Given the description of an element on the screen output the (x, y) to click on. 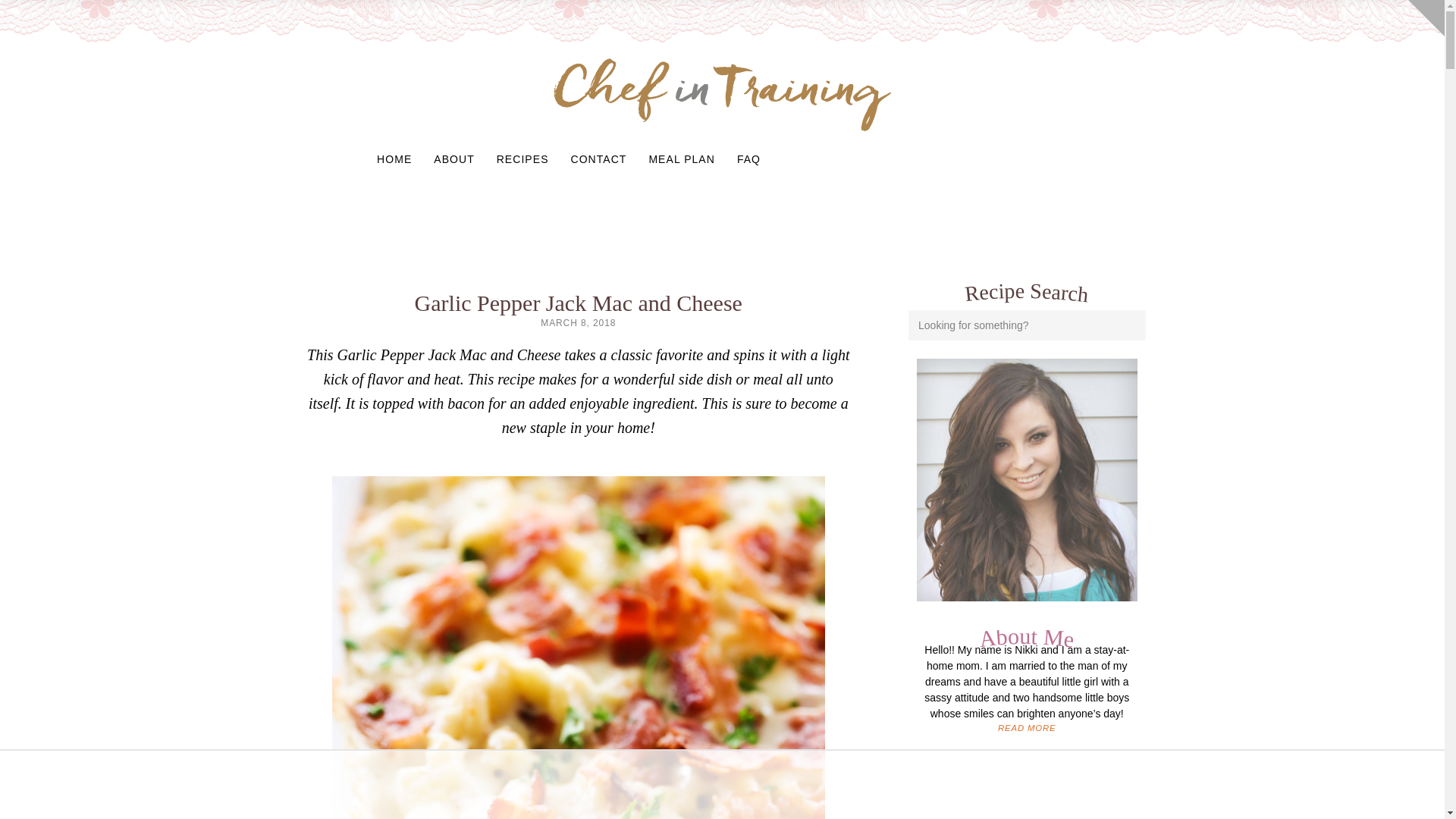
RECIPES (522, 158)
CONTACT (597, 158)
HOME (394, 158)
Search (1129, 325)
MEAL PLAN (681, 158)
FAQ (749, 158)
About Me (1026, 638)
ABOUT (454, 158)
Recipe Search (1026, 290)
